Given the description of an element on the screen output the (x, y) to click on. 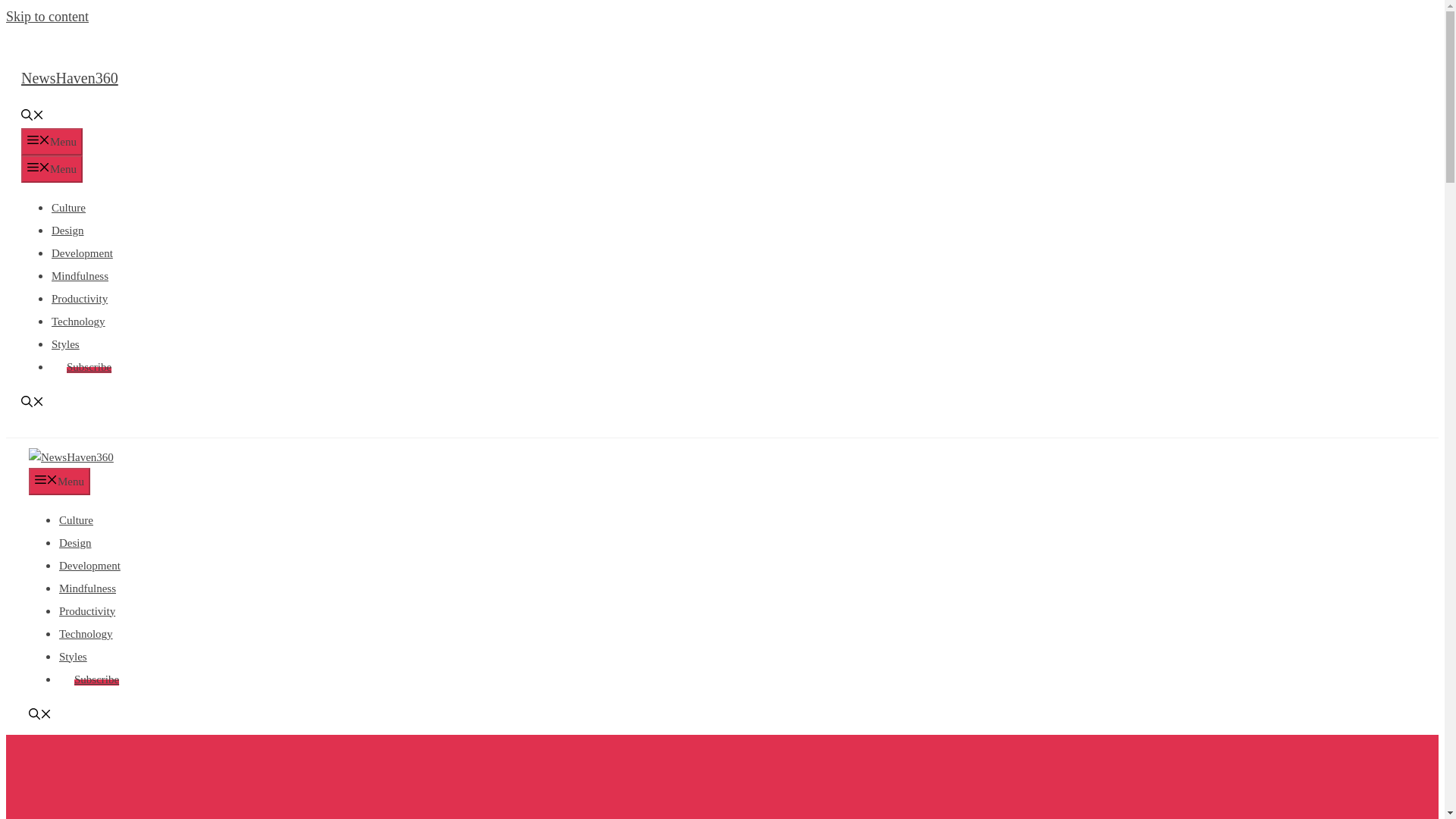
Development (81, 253)
Culture (67, 207)
Styles (65, 344)
Skip to content (46, 16)
Design (75, 542)
Productivity (78, 298)
NewsHaven360 (71, 457)
Subscribe (96, 679)
Mindfulness (87, 588)
Productivity (87, 611)
Culture (76, 520)
Menu (59, 481)
Technology (86, 633)
Menu (51, 168)
Styles (73, 656)
